Given the description of an element on the screen output the (x, y) to click on. 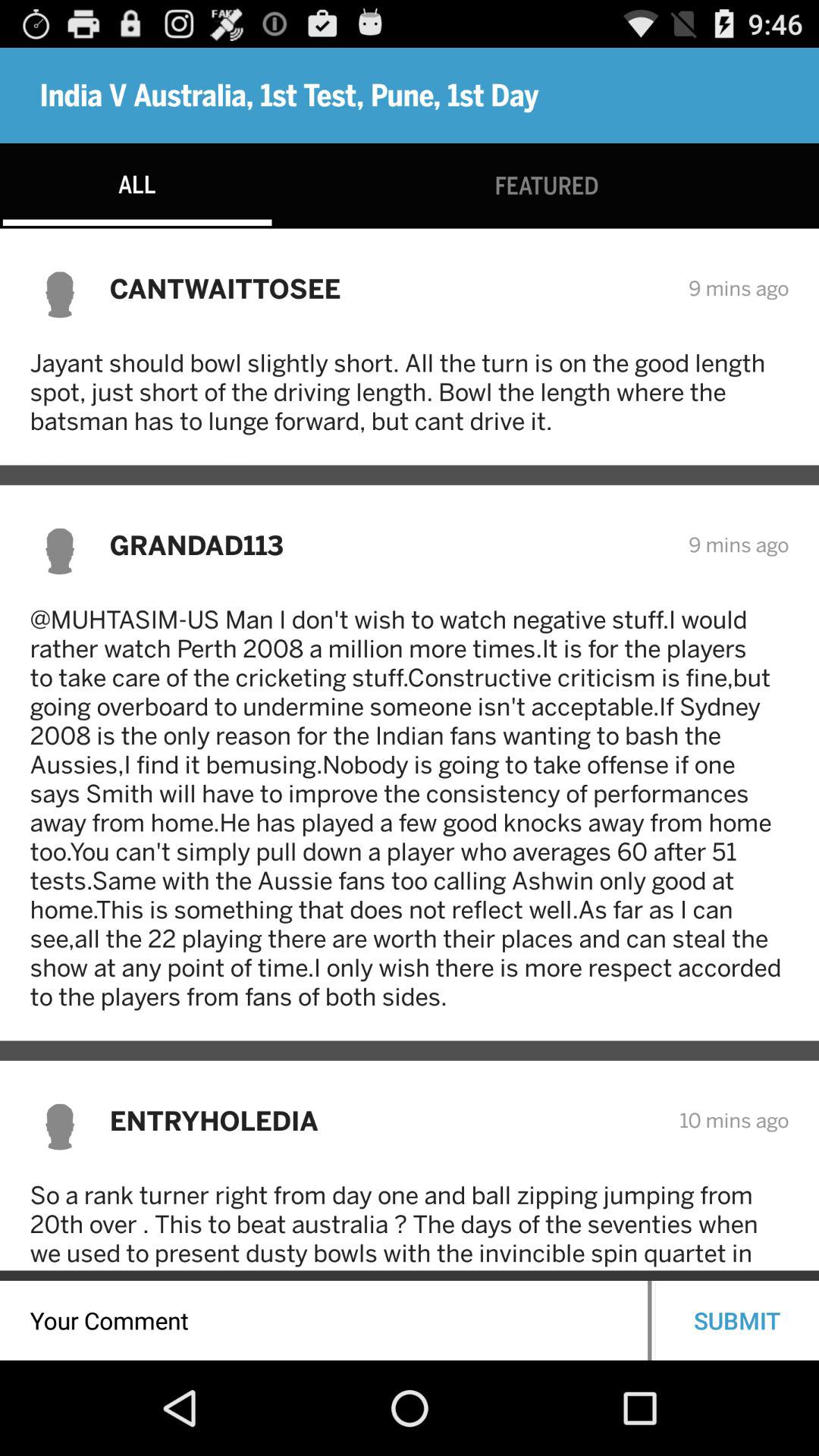
press the item to the left of 9 mins ago icon (388, 288)
